Given the description of an element on the screen output the (x, y) to click on. 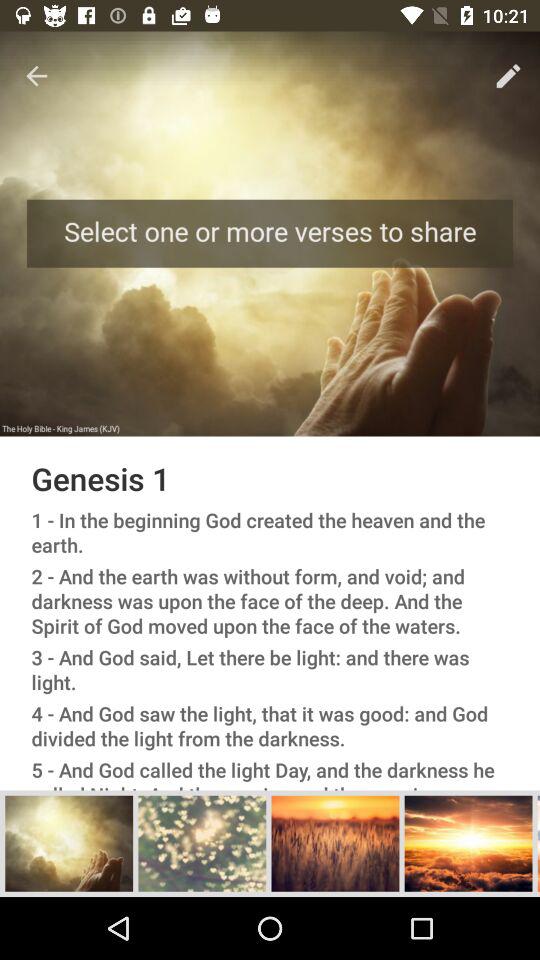
view image (69, 843)
